Given the description of an element on the screen output the (x, y) to click on. 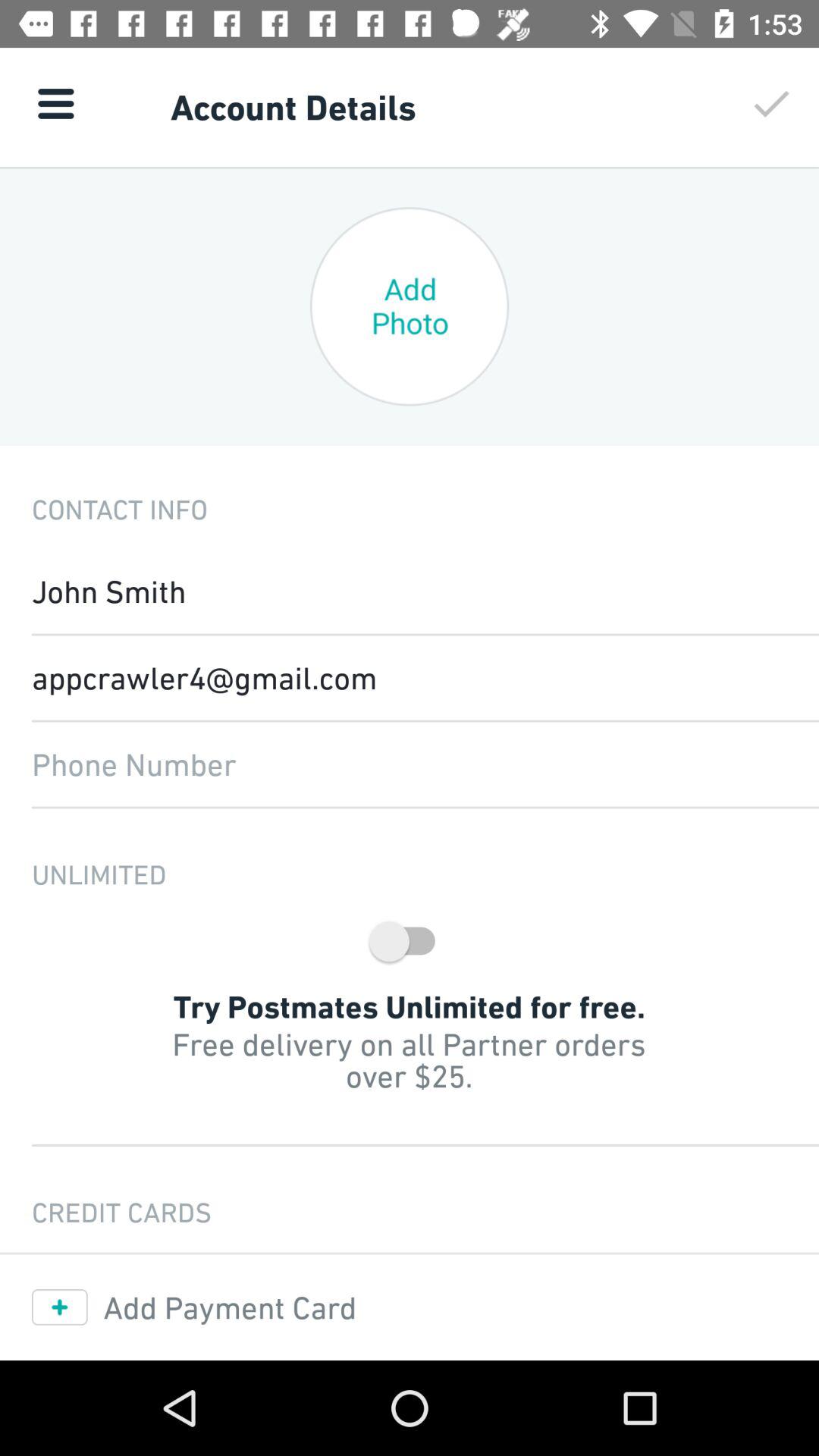
click on the profile image (409, 306)
click on appcrawler4gmailcom (409, 677)
click on the phone number field (409, 764)
click on the switch button (409, 941)
click on the circle with the text add photo (409, 306)
